Given the description of an element on the screen output the (x, y) to click on. 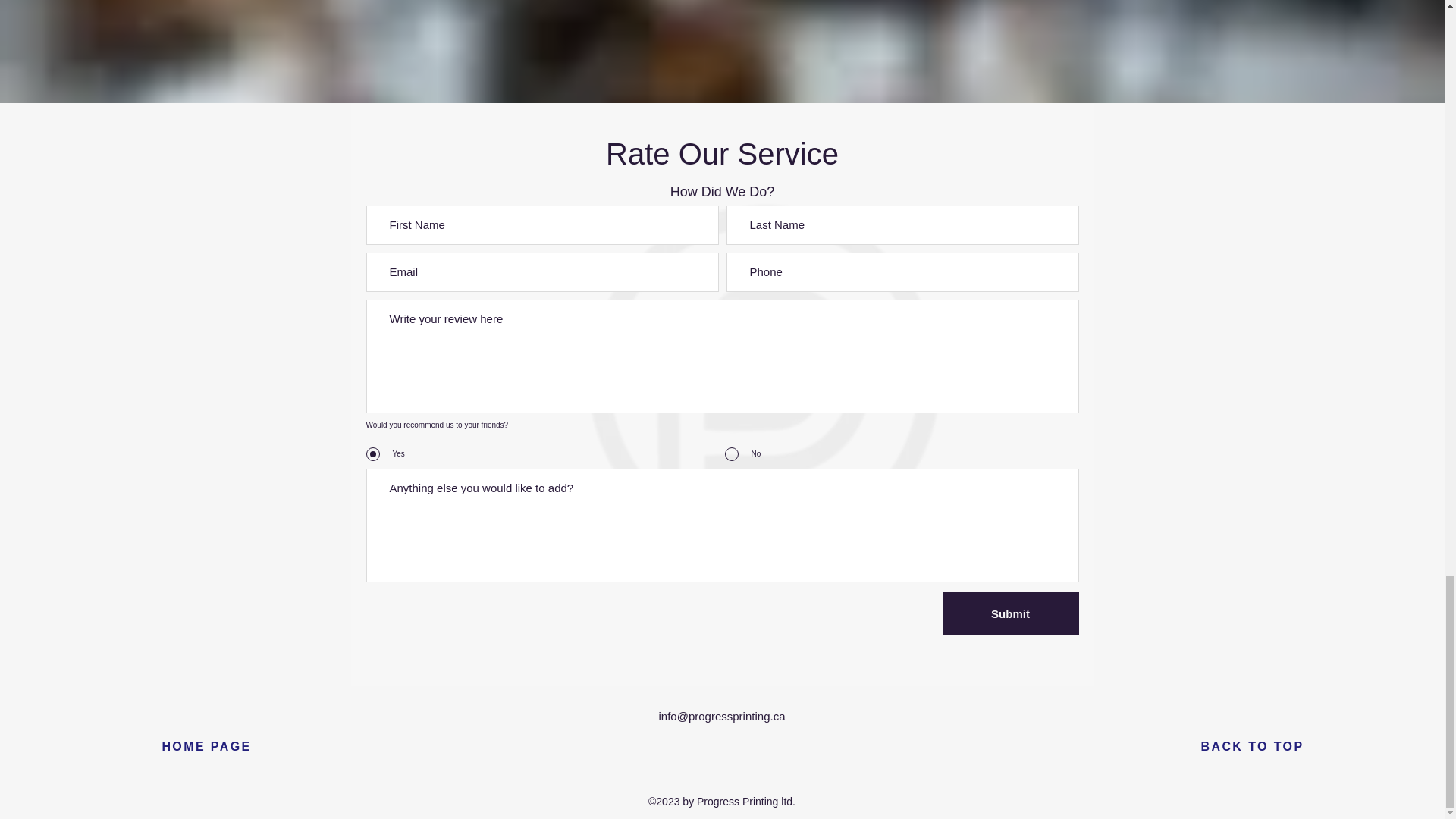
HOME PAGE (206, 747)
Submit (1010, 613)
BACK TO TOP (1251, 747)
